Given the description of an element on the screen output the (x, y) to click on. 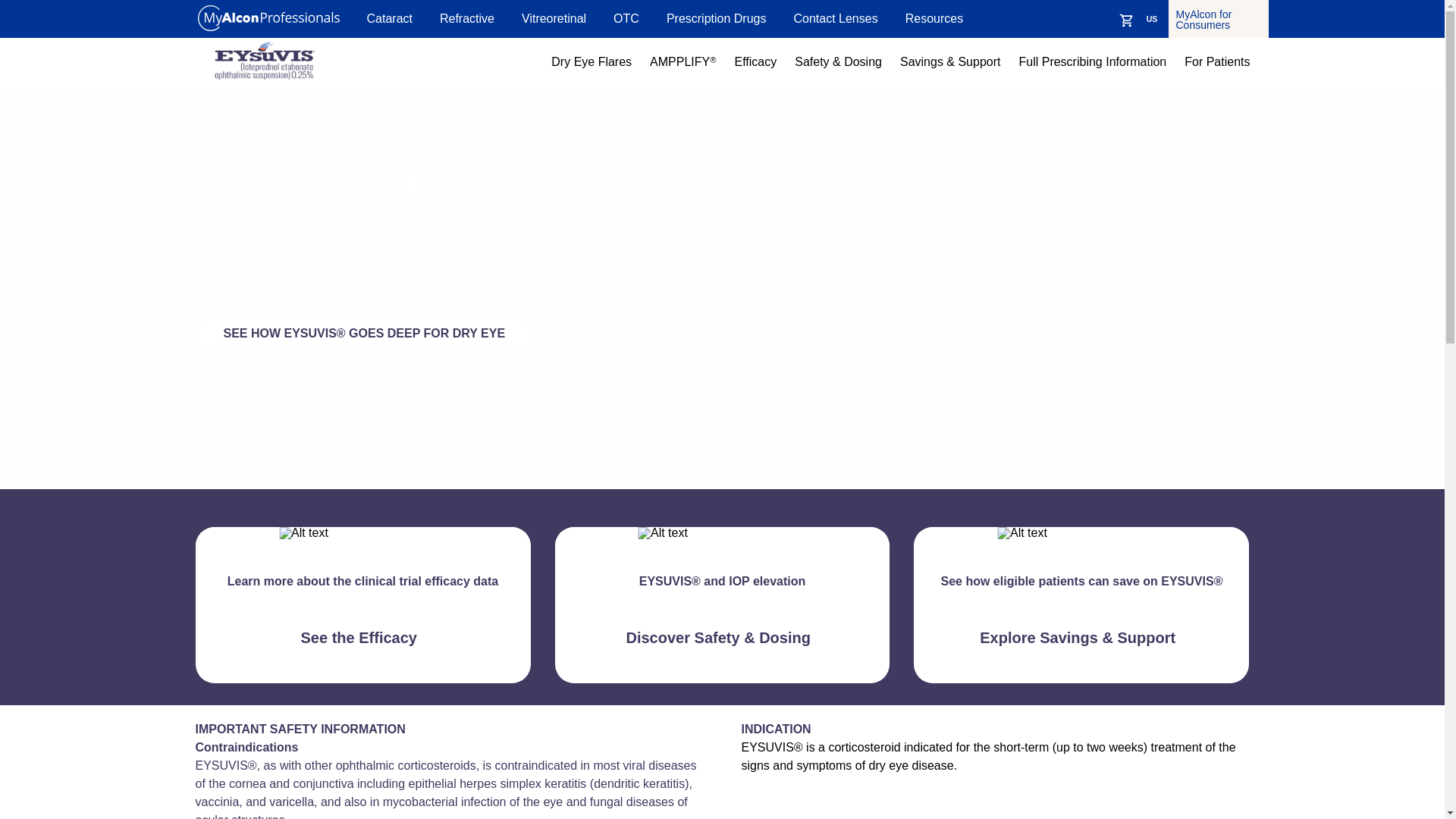
Vitreoretinal (553, 18)
Contact Lenses (835, 18)
Prescription Drugs (716, 18)
Online Store (1126, 19)
Dry Eye Flares (591, 61)
Refractive (467, 18)
Cataract (389, 18)
Resources (933, 18)
MyAlcon for Consumers (1217, 18)
